Given the description of an element on the screen output the (x, y) to click on. 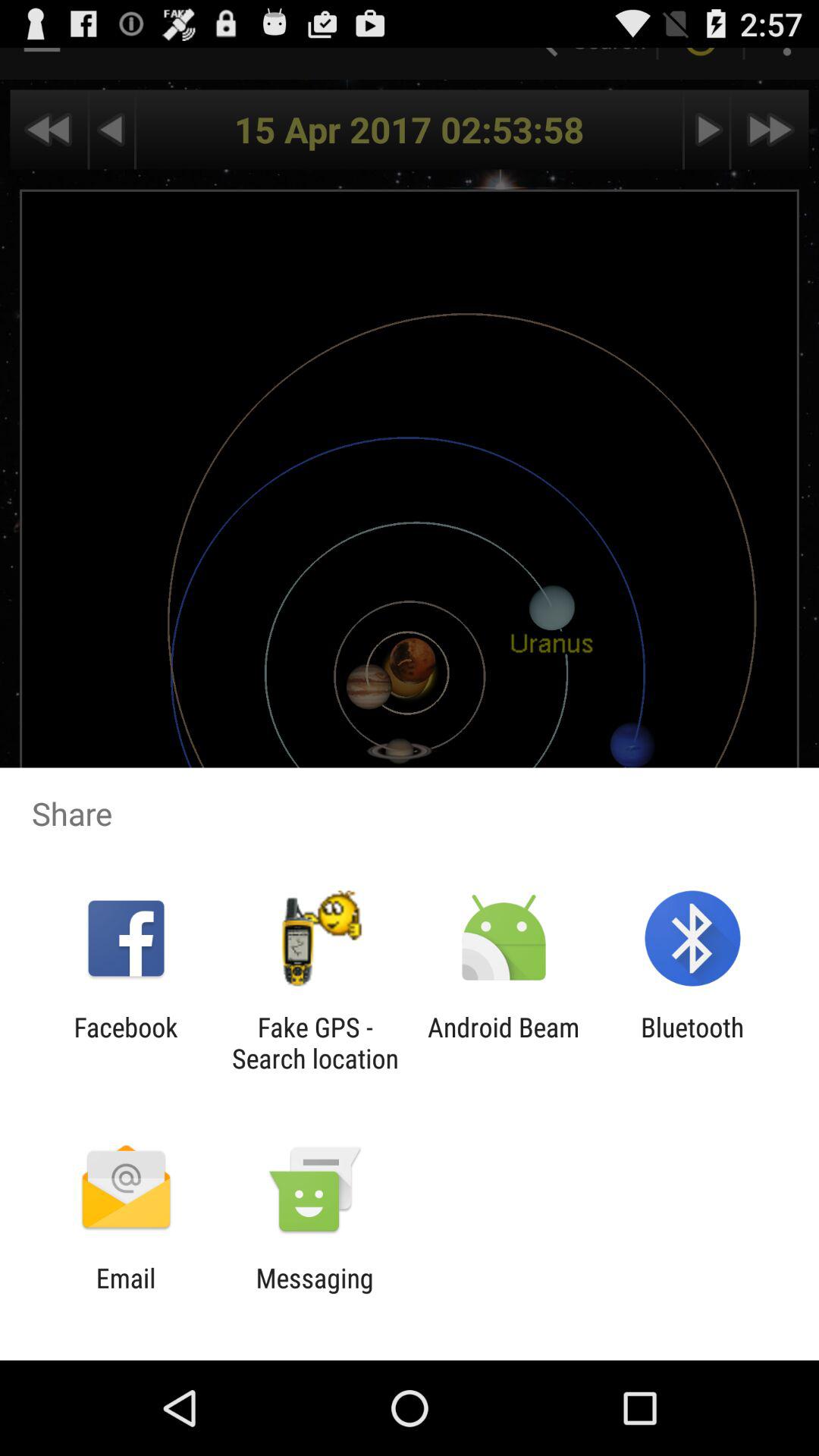
open email icon (125, 1293)
